Given the description of an element on the screen output the (x, y) to click on. 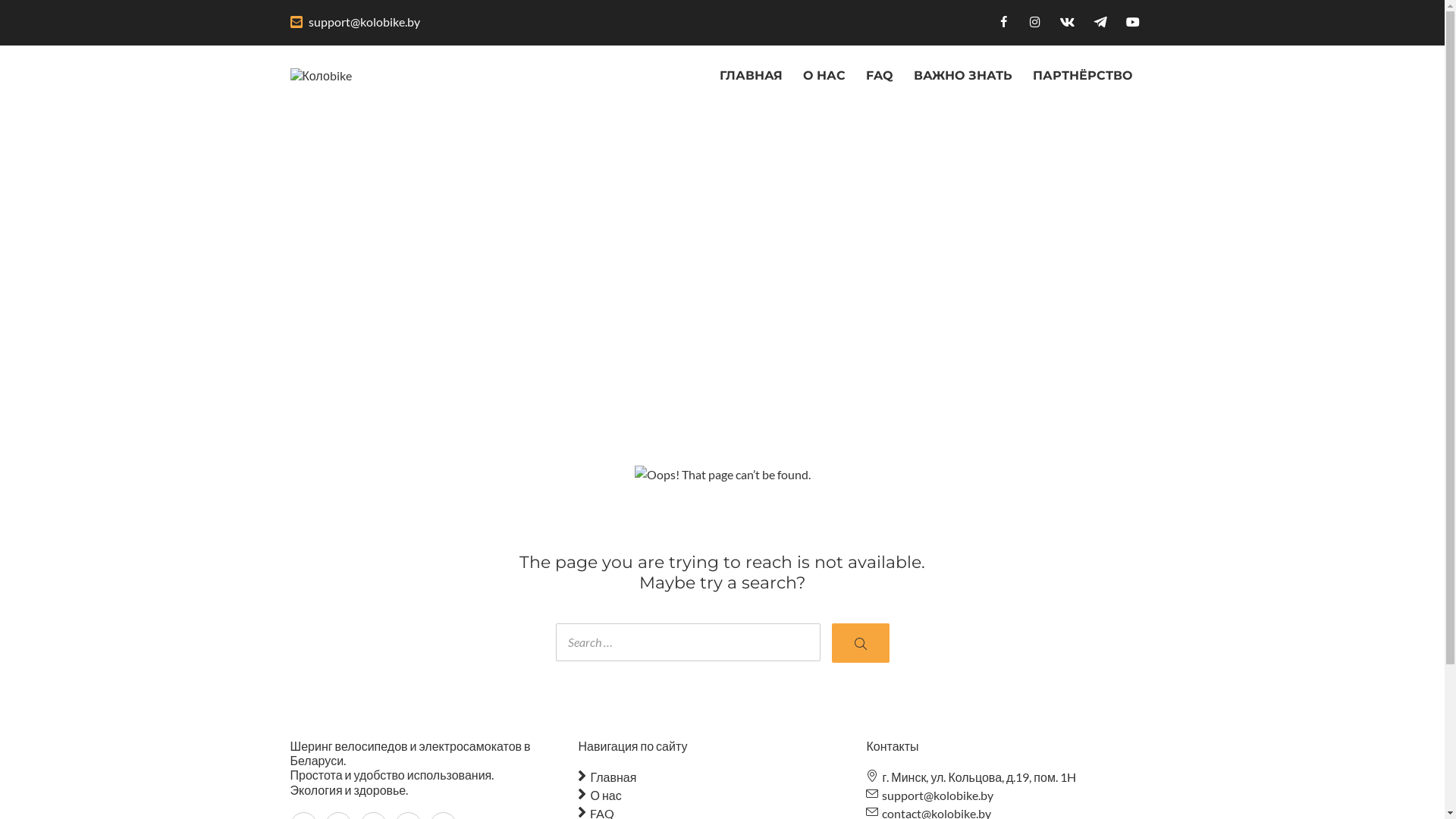
support@kolobike.by Element type: text (1010, 795)
FAQ Element type: text (879, 75)
support@kolobike.by Element type: text (363, 21)
